Given the description of an element on the screen output the (x, y) to click on. 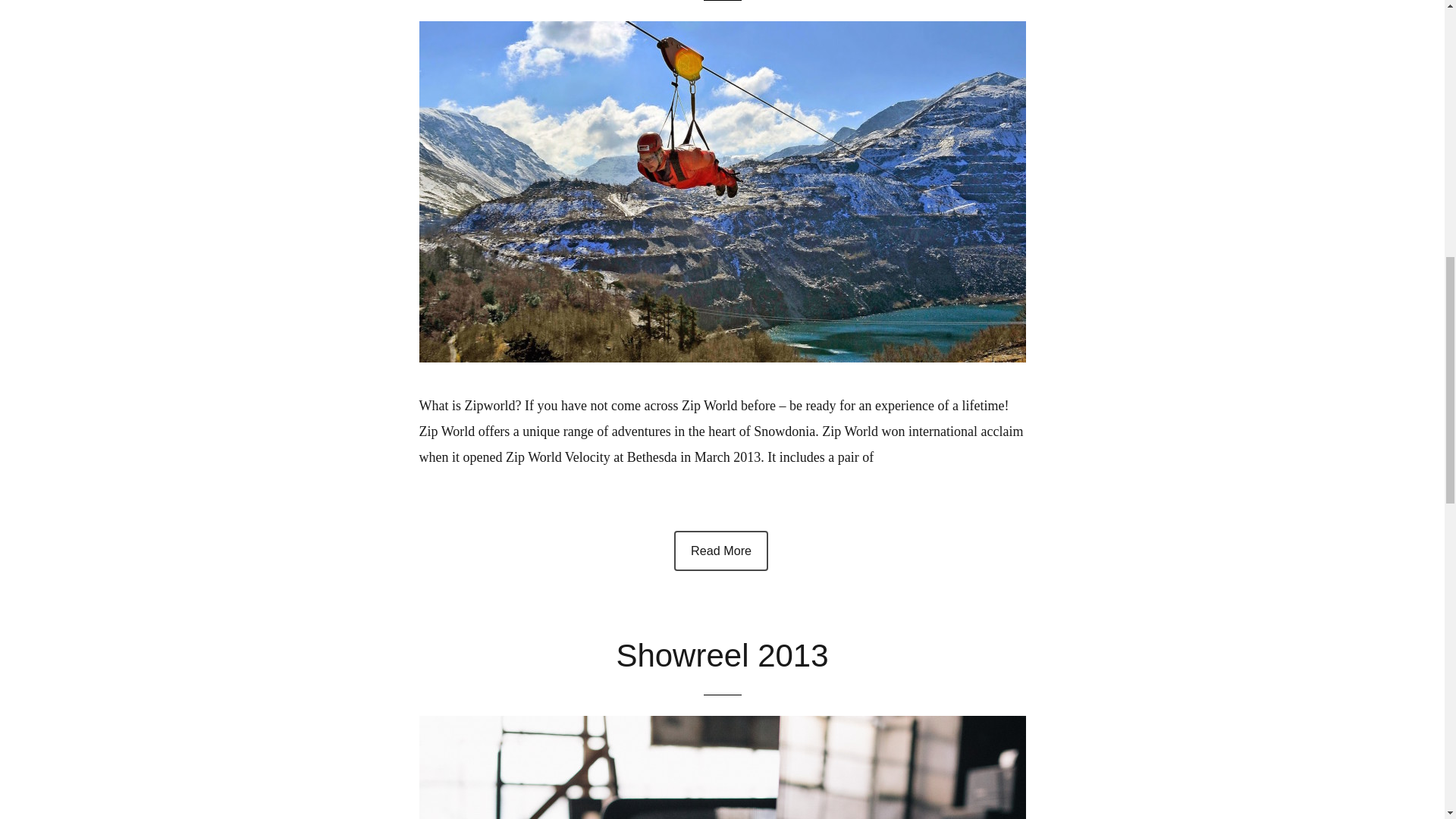
Read More (721, 550)
Showreel 2013 (722, 767)
Showreel 2013 (721, 655)
